Given the description of an element on the screen output the (x, y) to click on. 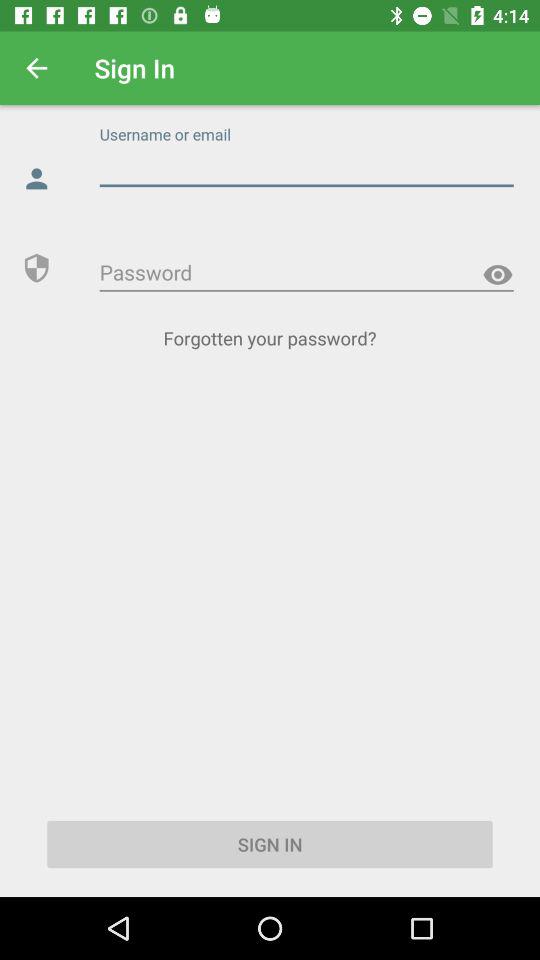
enter password (306, 273)
